Given the description of an element on the screen output the (x, y) to click on. 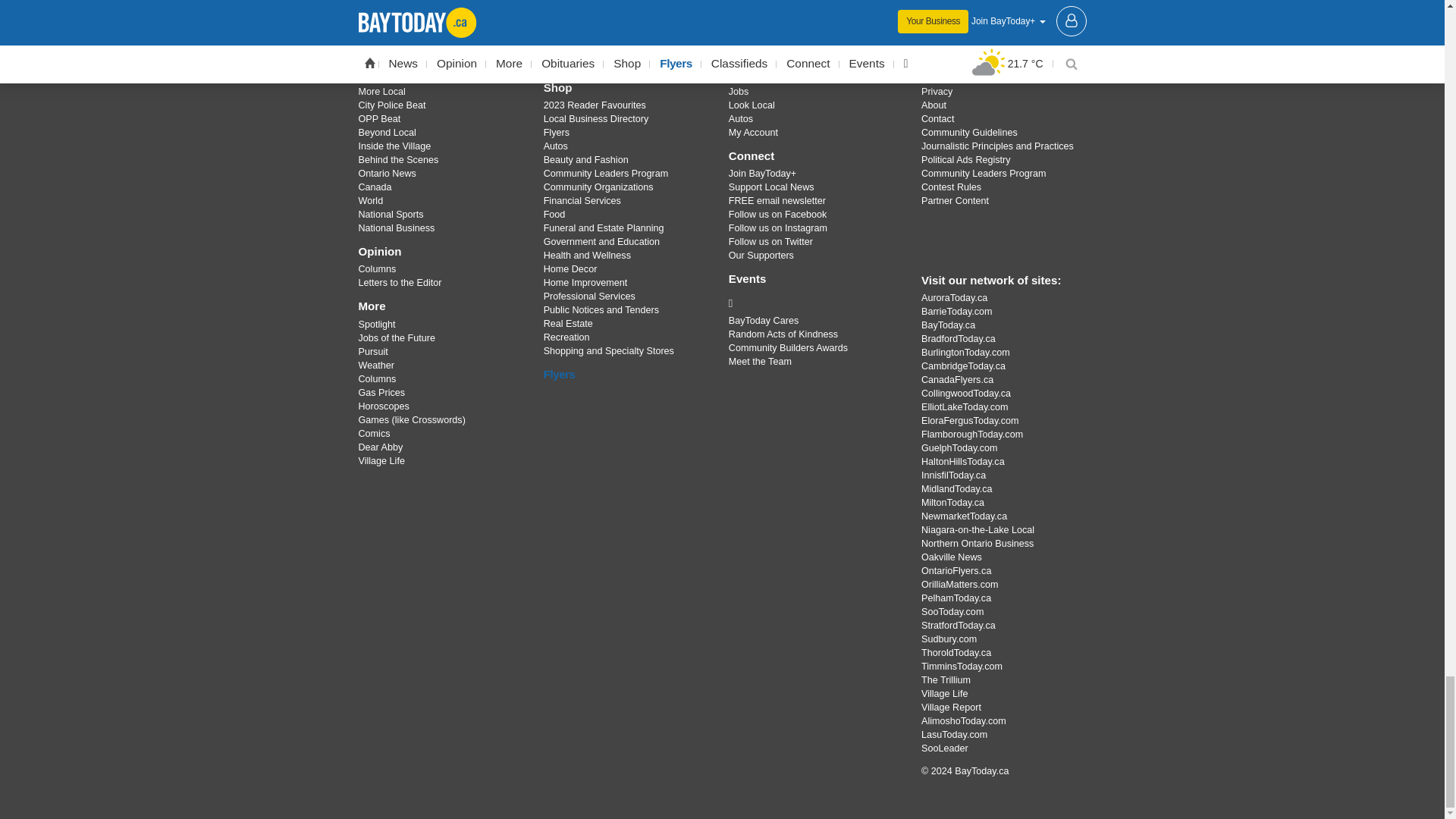
BayToday Cares (813, 303)
